Given the description of an element on the screen output the (x, y) to click on. 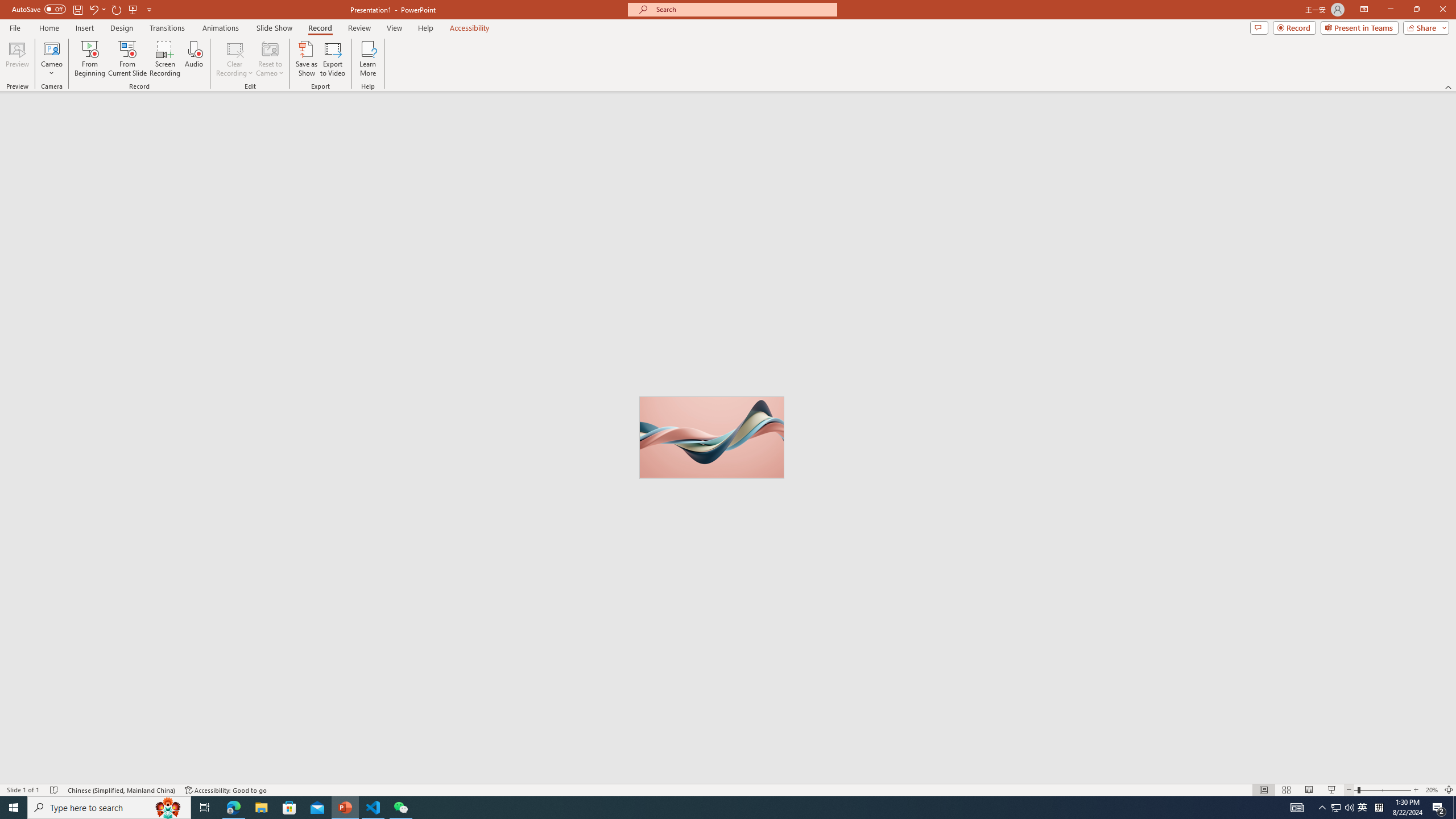
Save as Show (306, 58)
From Beginning... (89, 58)
